Given the description of an element on the screen output the (x, y) to click on. 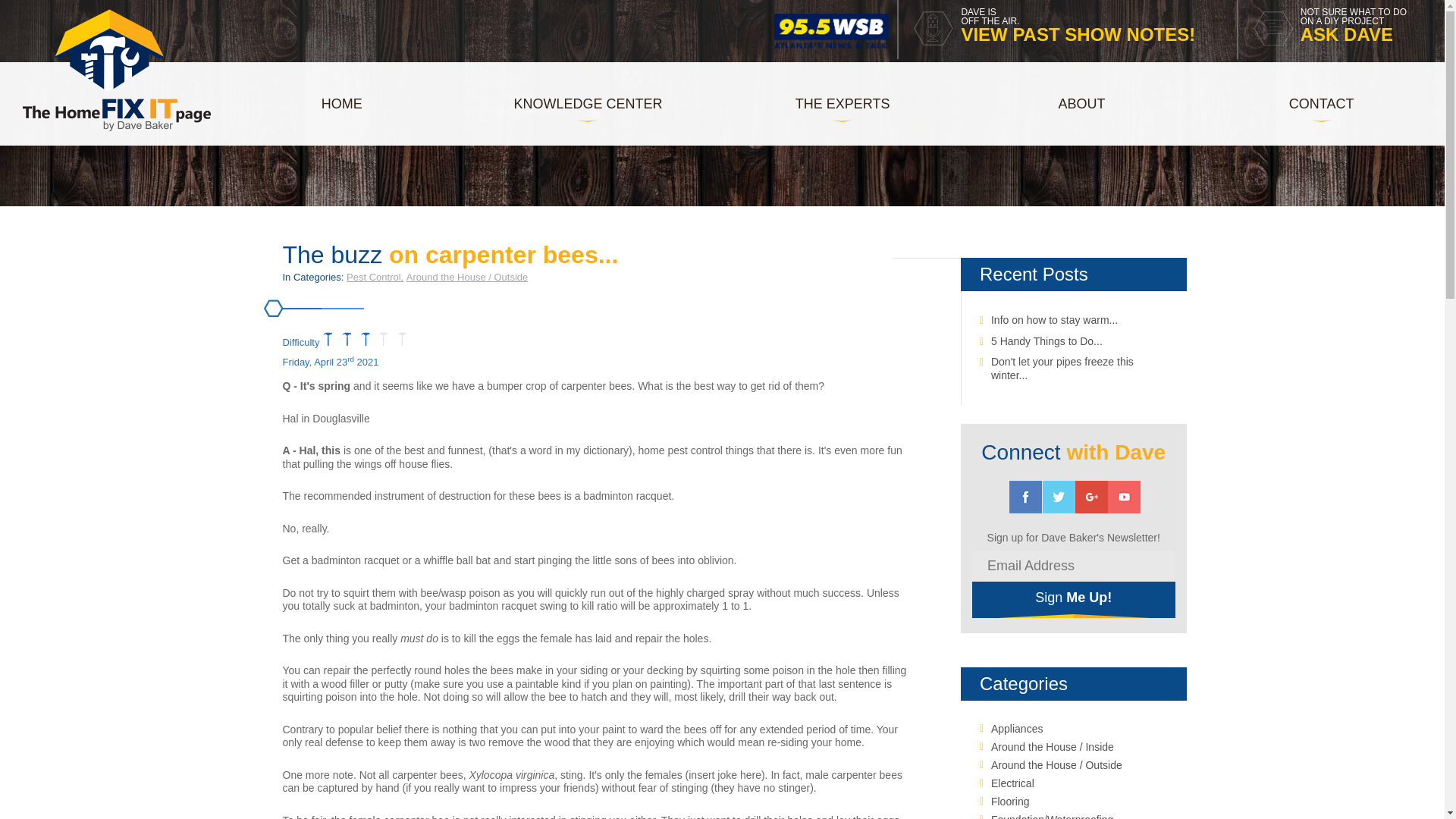
YouTube (1124, 496)
Twitter (1058, 496)
THE EXPERTS (841, 104)
KNOWLEDGE CENTER (1064, 29)
Difficulty Rating: Might Need Some Help (587, 104)
Facebook (363, 338)
HOME (1025, 496)
The Home Fix-It Page by Dave Baker (341, 104)
